Given the description of an element on the screen output the (x, y) to click on. 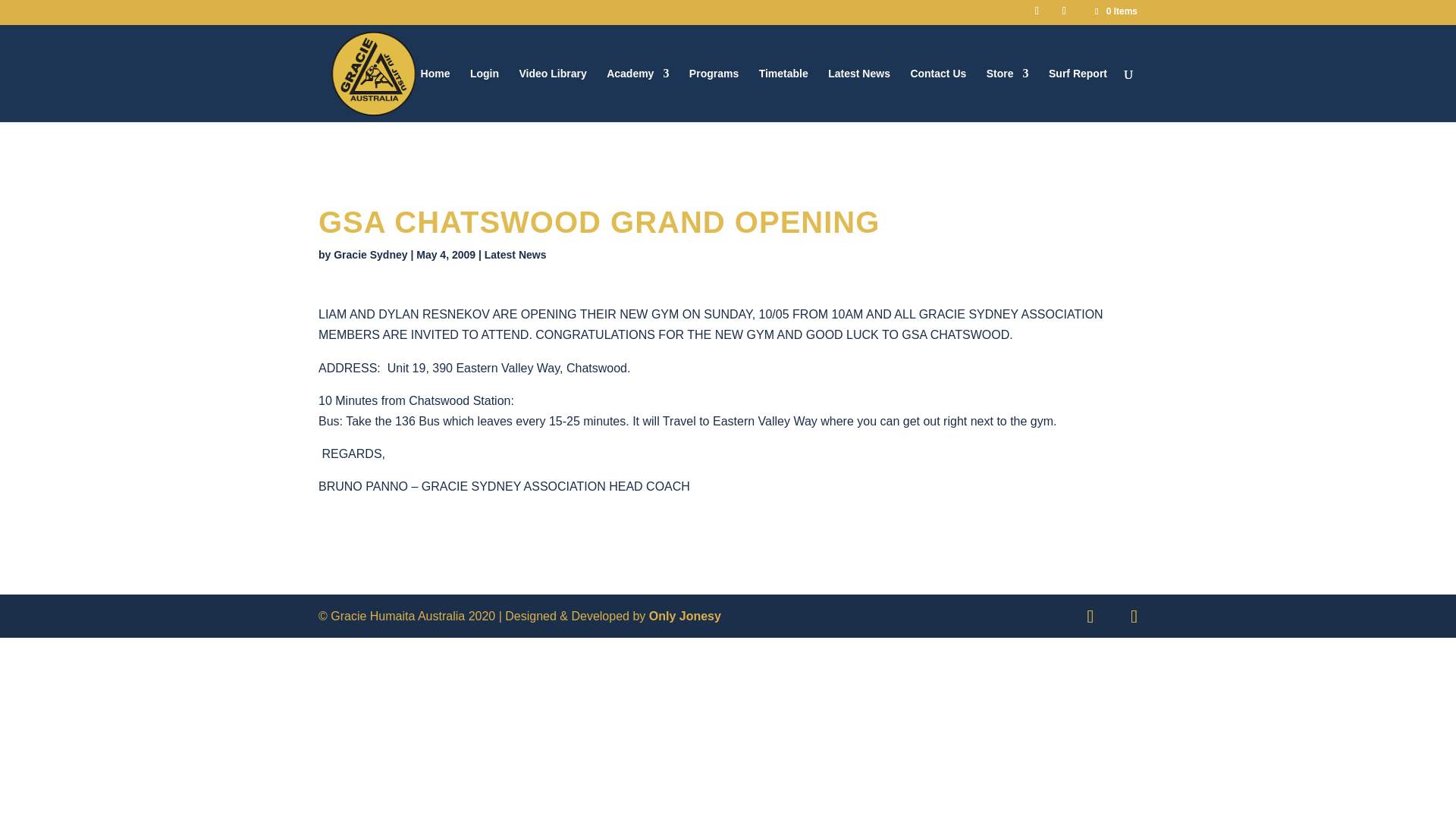
Timetable (783, 94)
Posts by Gracie Sydney (370, 254)
Surf Report (1077, 94)
Latest News (858, 94)
Programs (713, 94)
Video Library (552, 94)
Login (484, 94)
0 Items (1115, 10)
Academy (637, 94)
Home (434, 94)
Contact Us (938, 94)
Store (1008, 94)
